Given the description of an element on the screen output the (x, y) to click on. 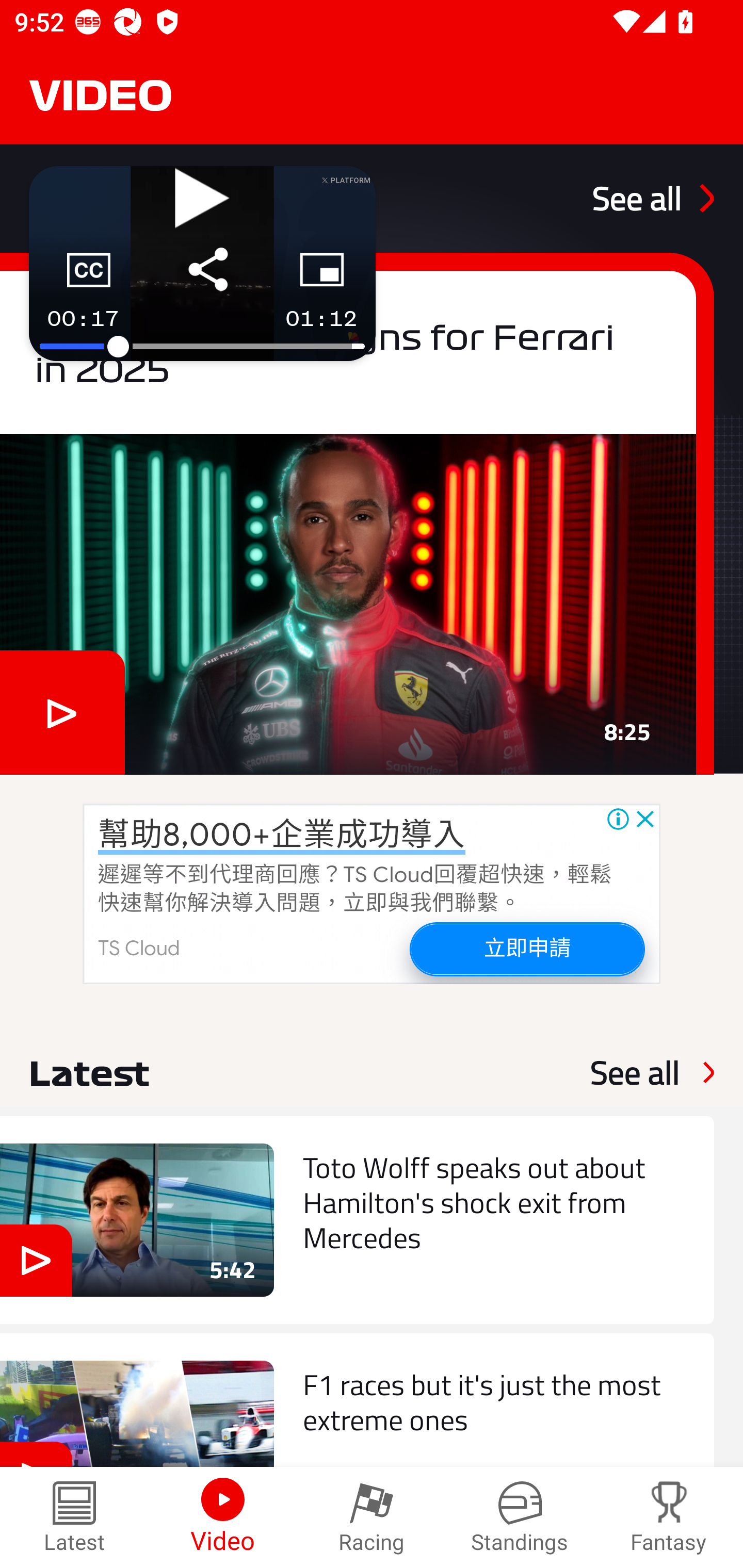
See all (653, 198)
Lewis Hamilton signs for Ferrari in 2025 8:25 (357, 513)
幫助8,000+企業成功導入 (281, 834)
立即申請 (526, 948)
TS Cloud (139, 948)
See all (634, 1072)
F1 races but it's just the most extreme ones  (357, 1399)
Latest (74, 1517)
Racing (371, 1517)
Standings (519, 1517)
Fantasy (668, 1517)
